Given the description of an element on the screen output the (x, y) to click on. 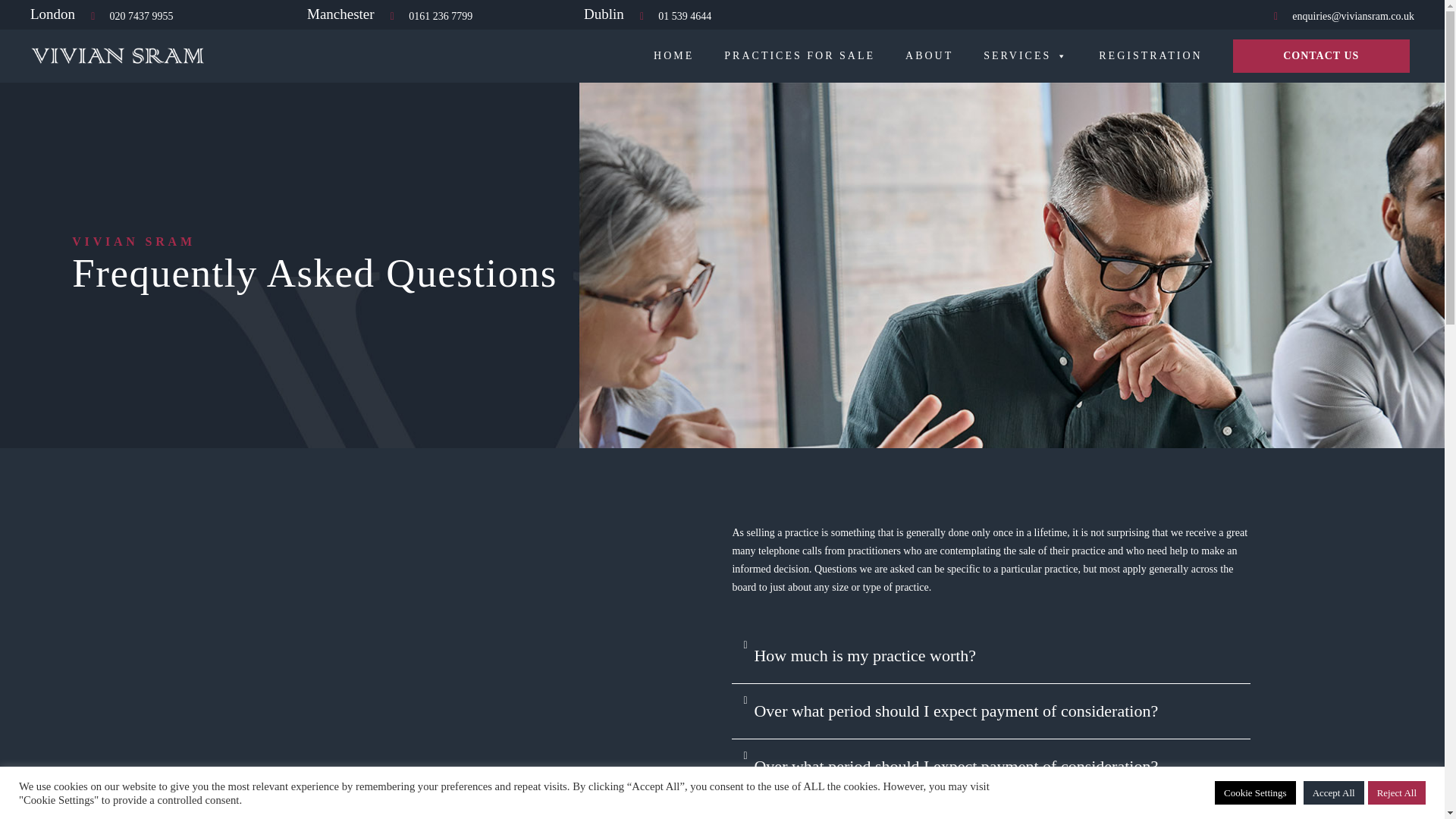
020 7437 9955 (129, 16)
HOME (673, 55)
PRACTICES FOR SALE (799, 55)
CONTACT US (1321, 55)
ABOUT (929, 55)
Over what period should I expect payment of consideration? (956, 765)
0161 236 7799 (429, 16)
SERVICES (1026, 55)
Over what period should I expect payment of consideration? (956, 710)
REGISTRATION (1150, 55)
How much is my practice worth? (865, 655)
01 539 4644 (672, 16)
